Given the description of an element on the screen output the (x, y) to click on. 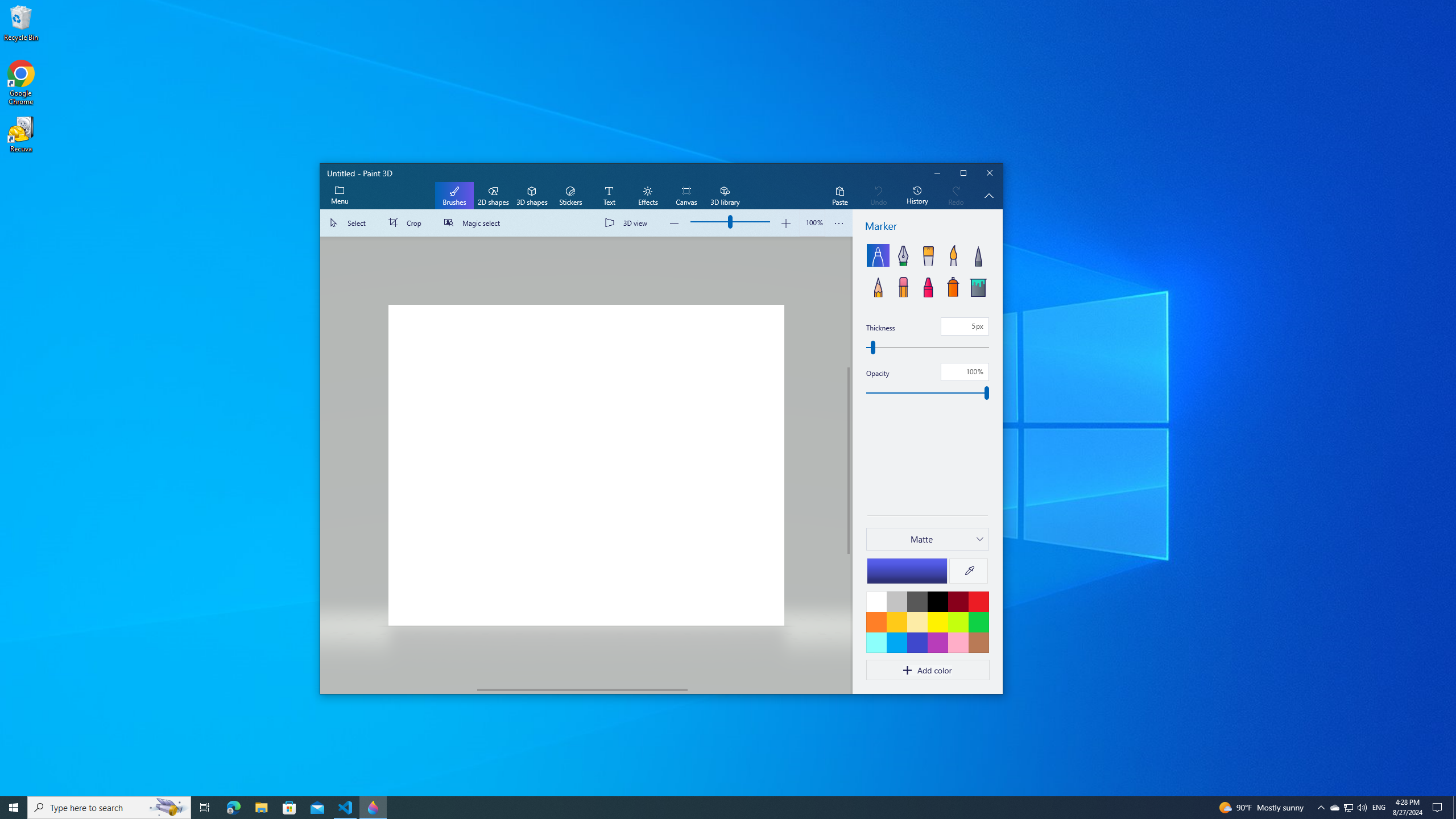
Green (978, 621)
Text (608, 195)
Current color: (906, 570)
Dark grey (917, 601)
Pencil (877, 285)
Turquoise (896, 642)
Vertical Large Increase (848, 619)
3D view (628, 222)
Light yellow (917, 621)
Zoom slider (812, 222)
Black (937, 601)
Add color (927, 670)
Vertical (848, 460)
